Given the description of an element on the screen output the (x, y) to click on. 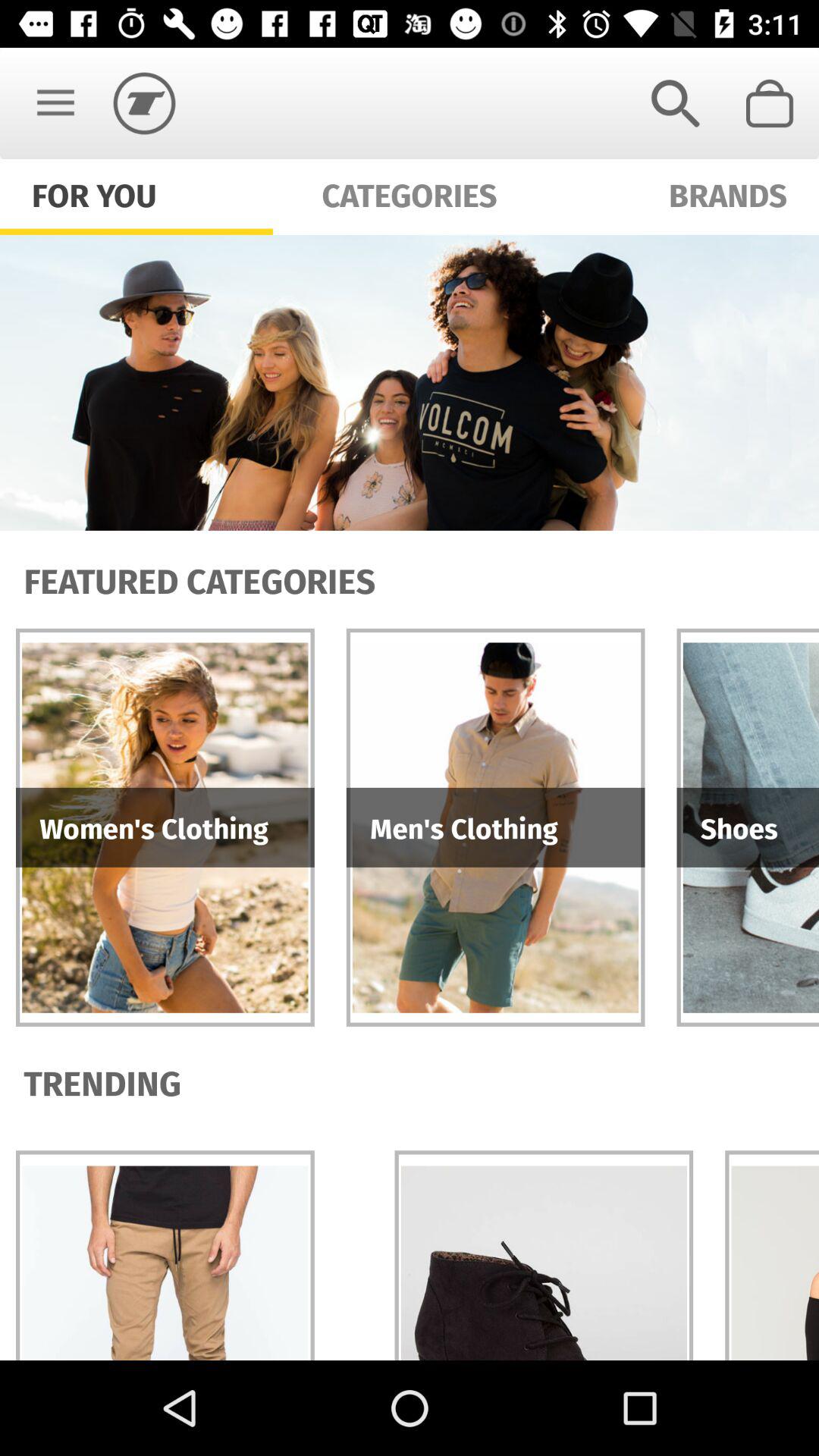
turn on icon above brands icon (675, 103)
